Given the description of an element on the screen output the (x, y) to click on. 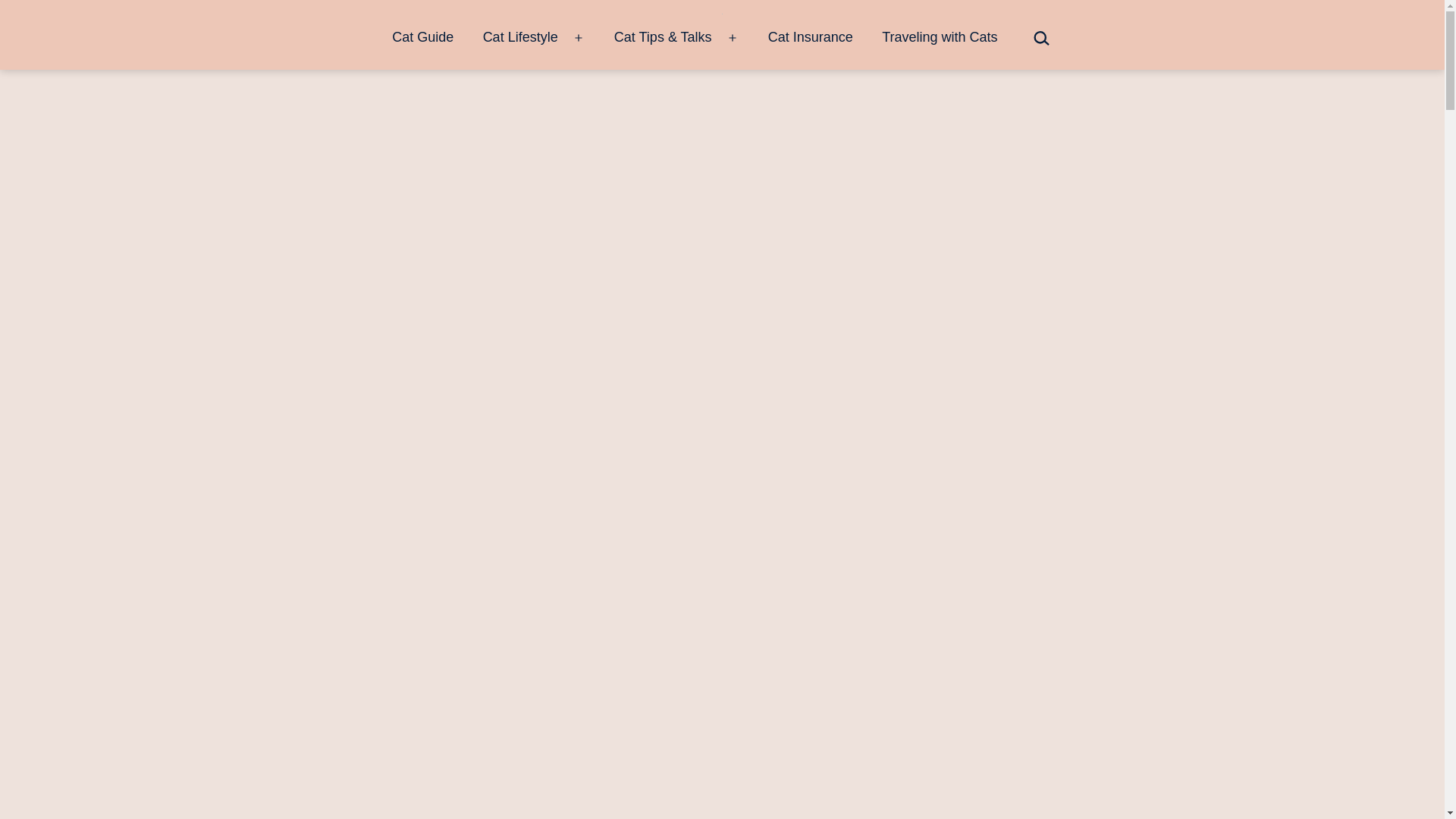
Cat Guide (422, 37)
Cat Insurance (810, 37)
Cat Lifestyle (519, 37)
Open menu (578, 37)
Open menu (732, 37)
Traveling with Cats (939, 37)
